Given the description of an element on the screen output the (x, y) to click on. 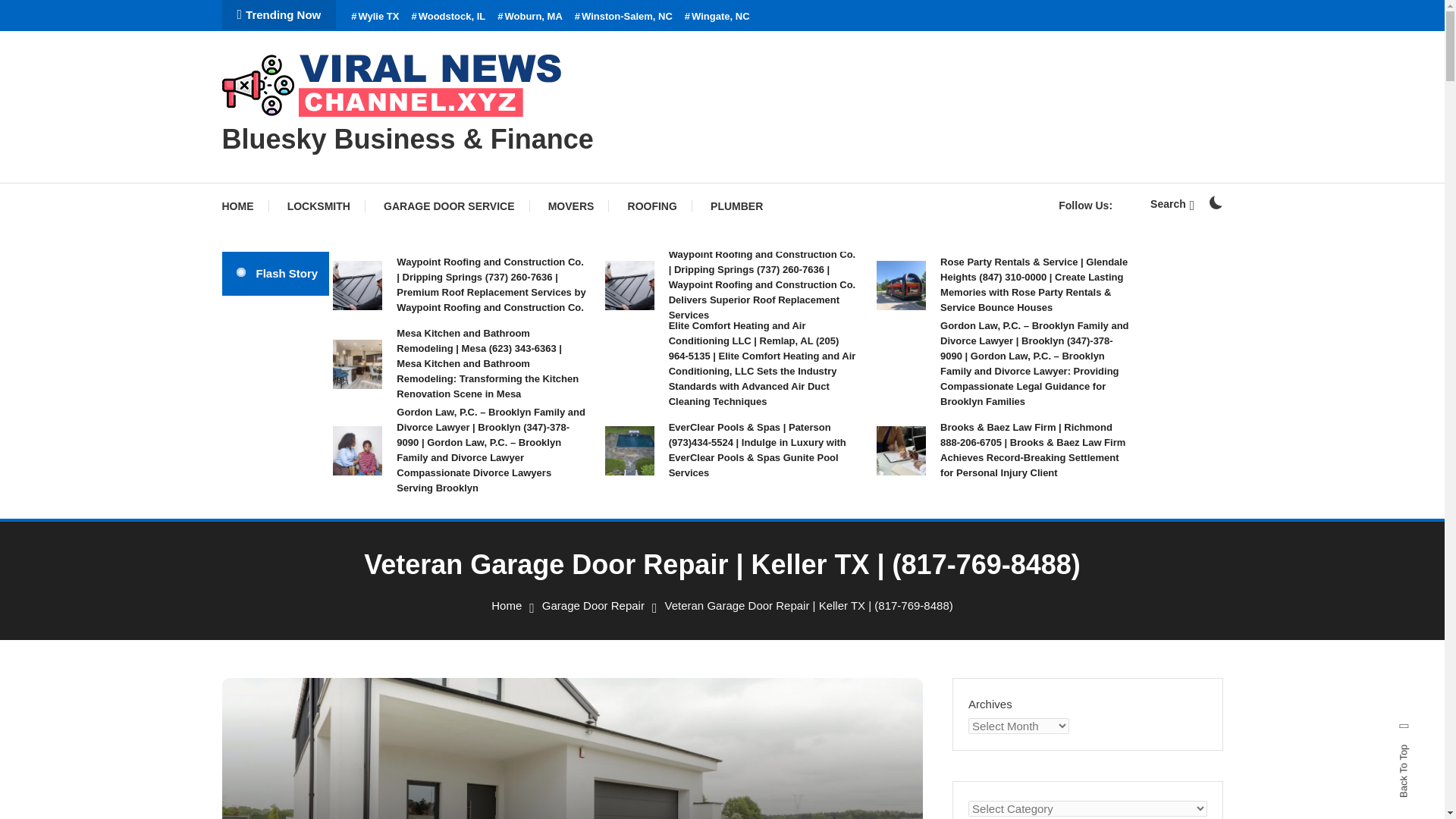
HOME (244, 206)
Search (1171, 203)
PLUMBER (736, 206)
Wingate, NC (716, 16)
Garage Door Repair (593, 604)
MOVERS (571, 206)
Woodstock, IL (447, 16)
on (1215, 202)
ROOFING (652, 206)
Search (768, 434)
